Given the description of an element on the screen output the (x, y) to click on. 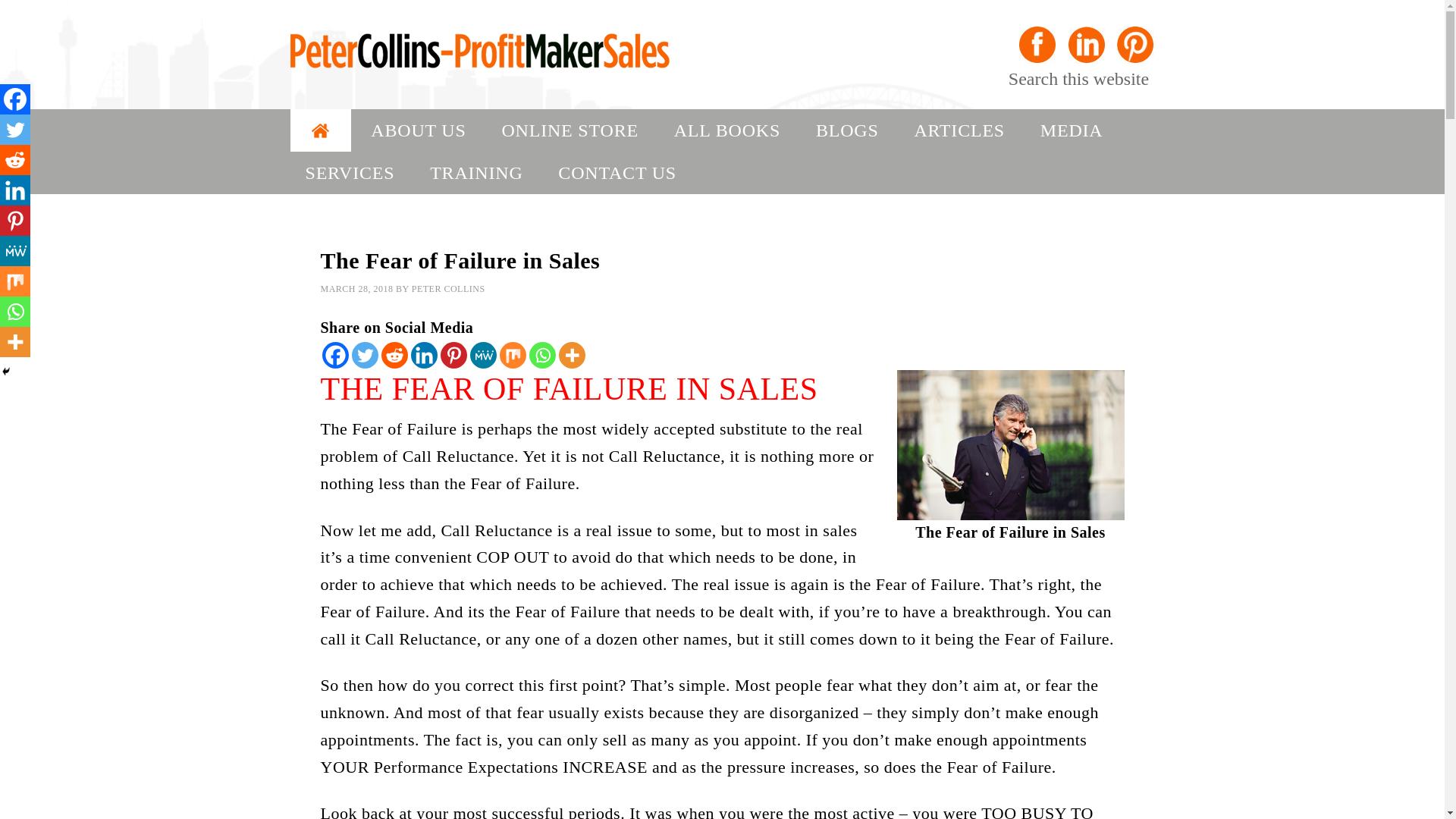
ARTICLES (959, 129)
Reddit (15, 159)
MeWe (483, 355)
ONLINE STORE (569, 129)
SERVICES (349, 172)
Twitter (365, 355)
BLOGS (846, 129)
Facebook (15, 99)
Mix (512, 355)
CONTACT US (617, 172)
Twitter (15, 129)
Whatsapp (542, 355)
PROFIT MAKER SALES (529, 54)
